Given the description of an element on the screen output the (x, y) to click on. 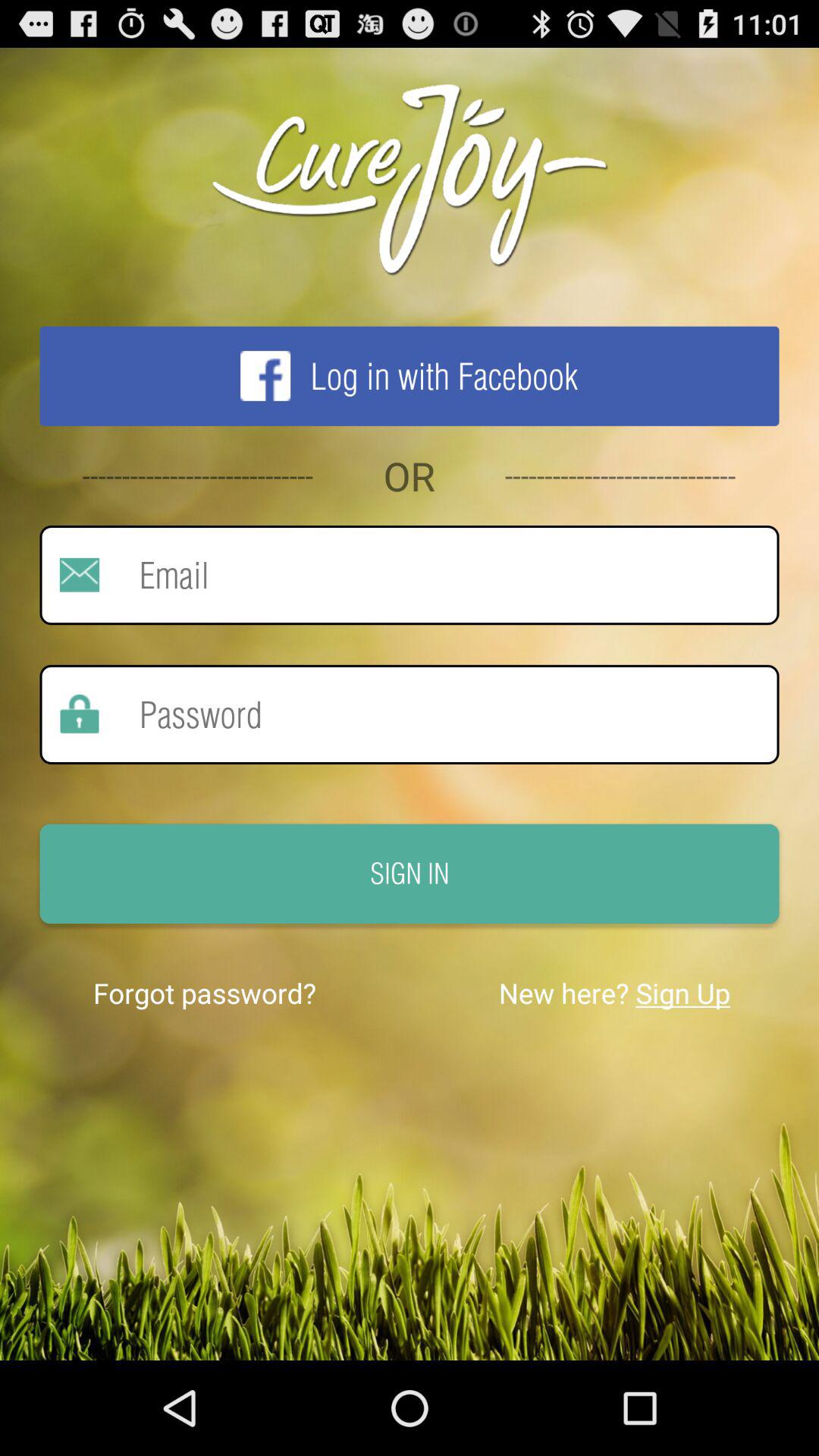
enter password (439, 714)
